Given the description of an element on the screen output the (x, y) to click on. 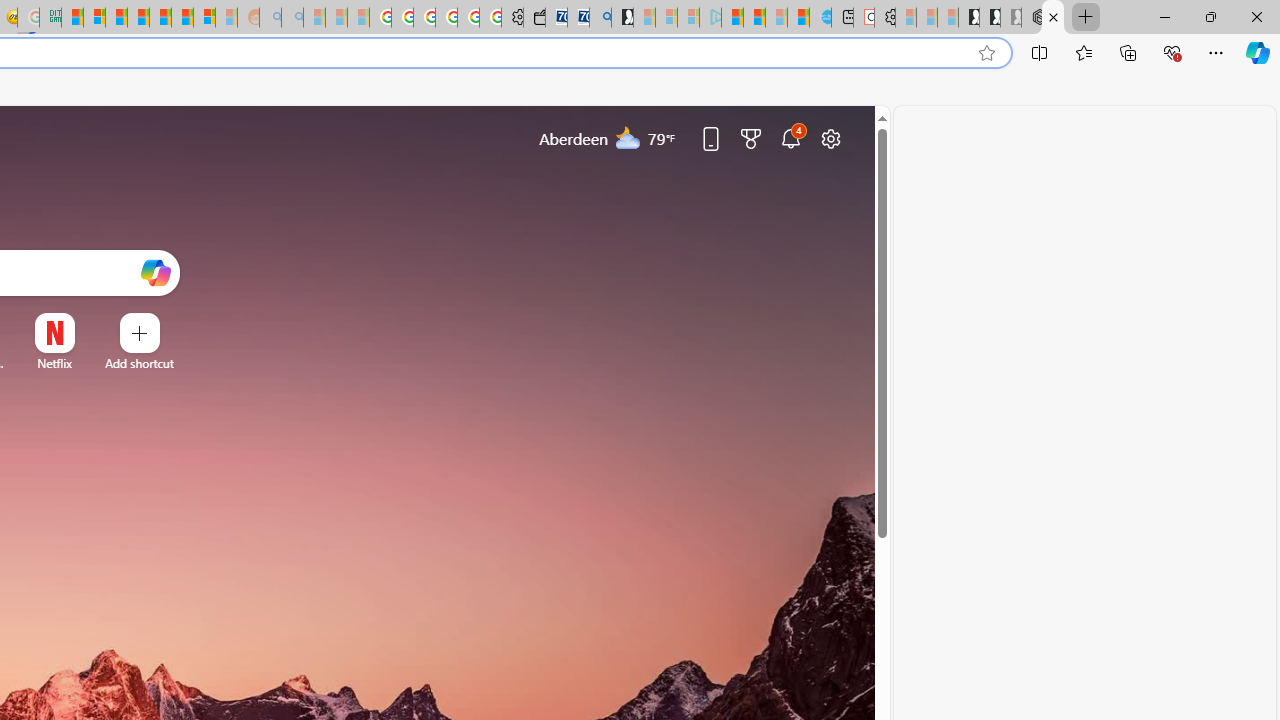
Cheap Car Rentals - Save70.com (578, 17)
